Given the description of an element on the screen output the (x, y) to click on. 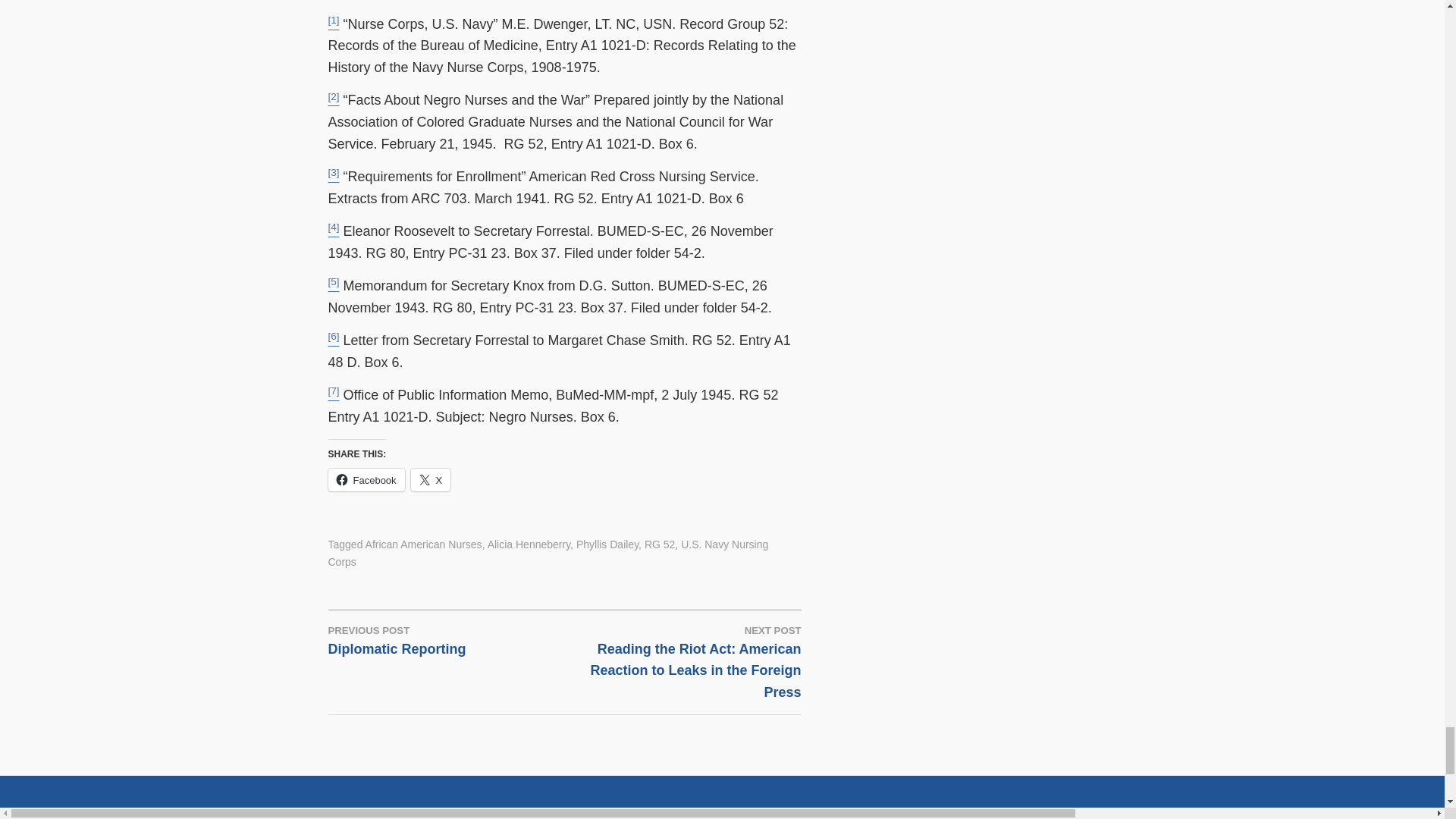
Click to share on X (430, 479)
Click to share on Facebook (365, 479)
